Given the description of an element on the screen output the (x, y) to click on. 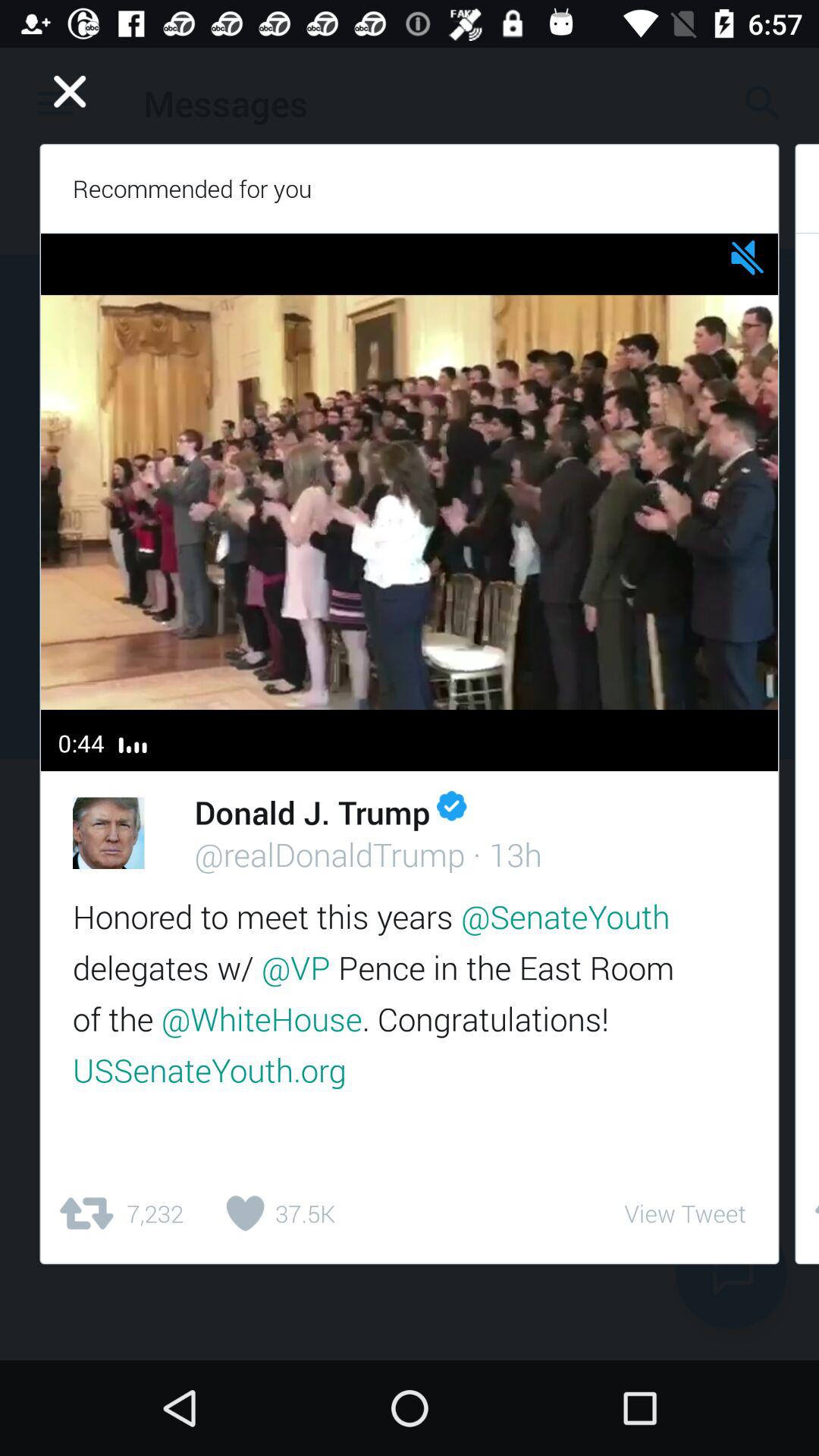
press 37.5k item (275, 1213)
